Given the description of an element on the screen output the (x, y) to click on. 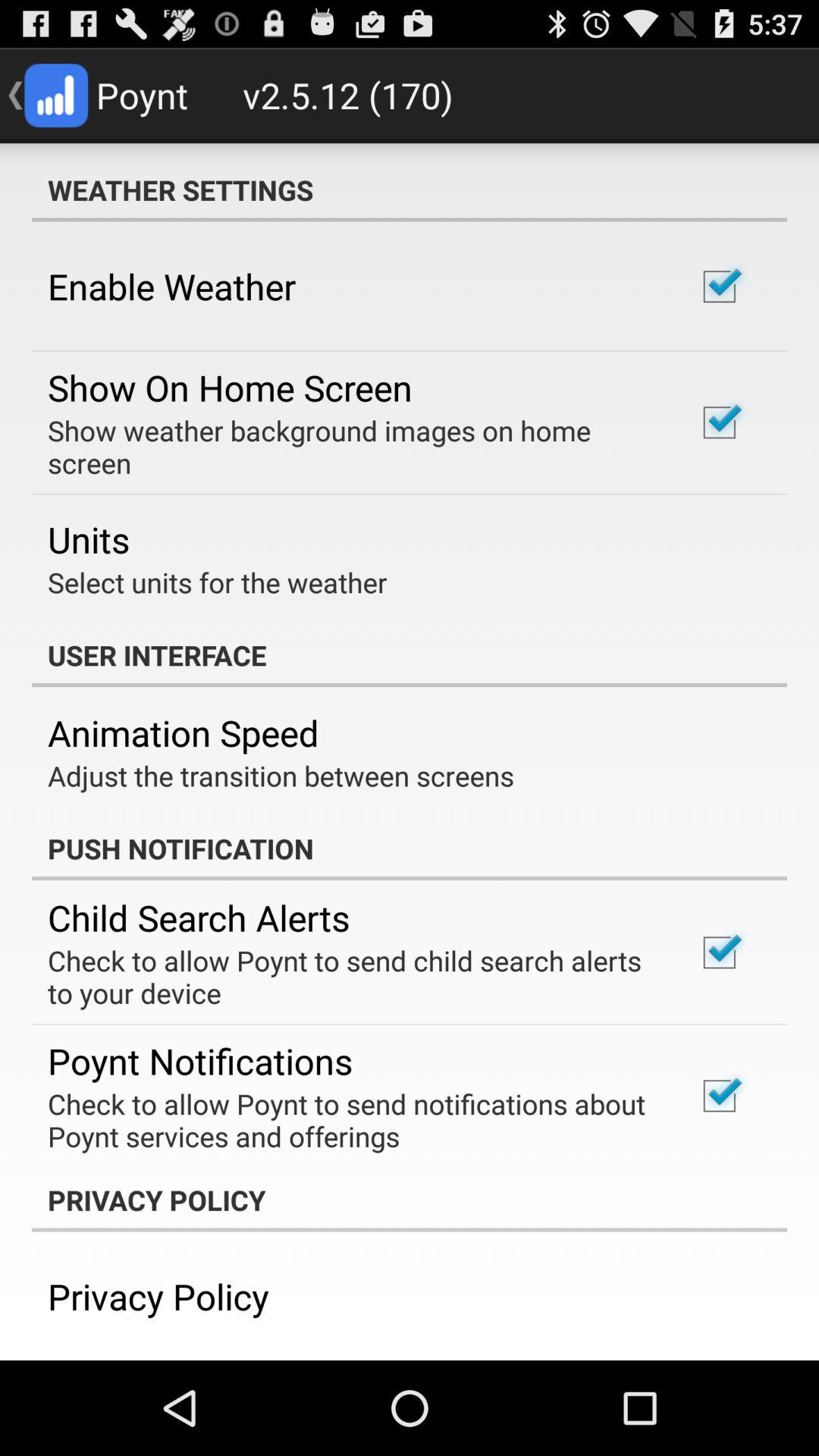
click push notification item (409, 848)
